Given the description of an element on the screen output the (x, y) to click on. 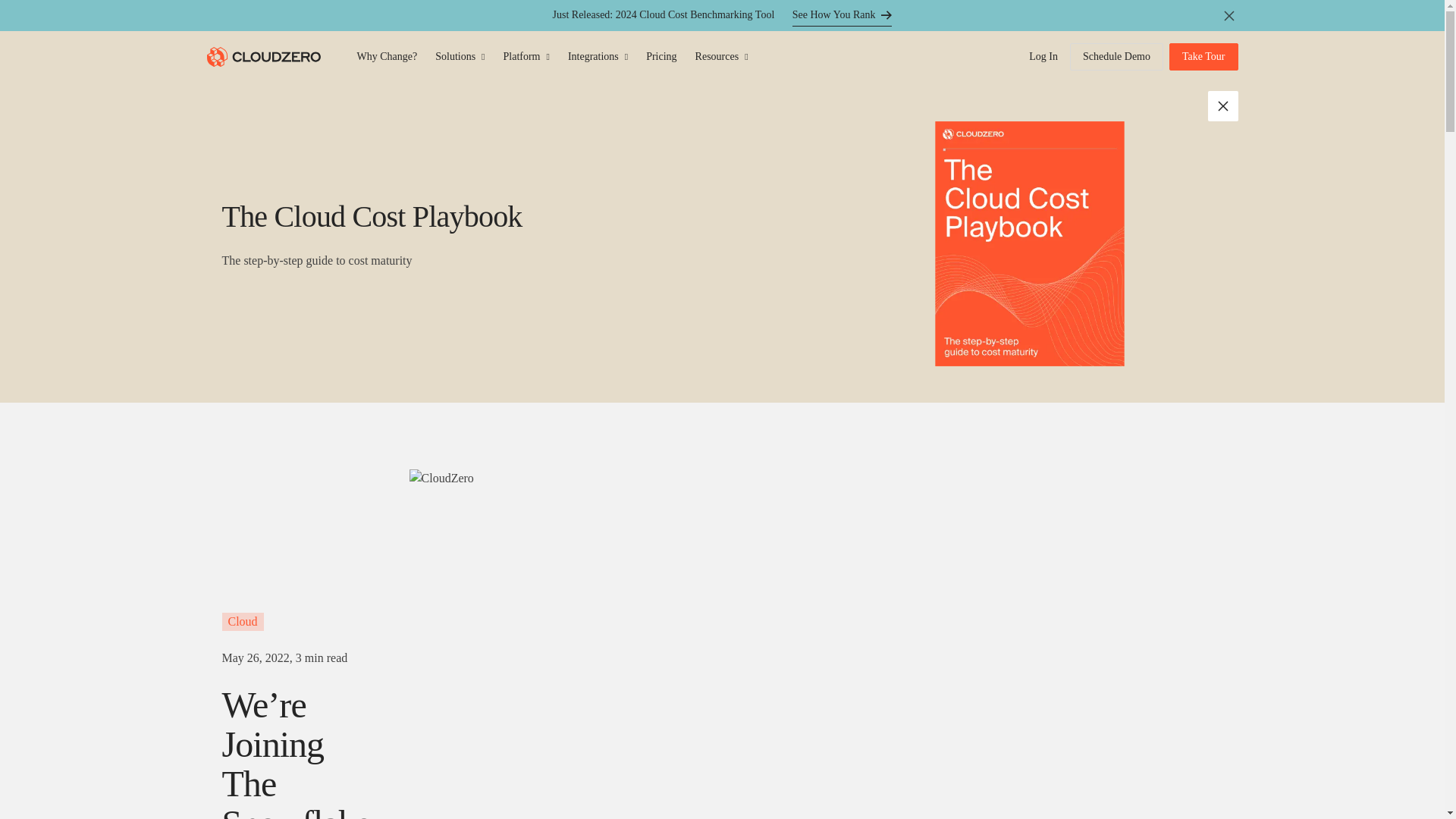
See How You Rank (842, 15)
Platform (526, 56)
Why Change? (386, 56)
Integrations (597, 56)
Solutions (459, 56)
